Given the description of an element on the screen output the (x, y) to click on. 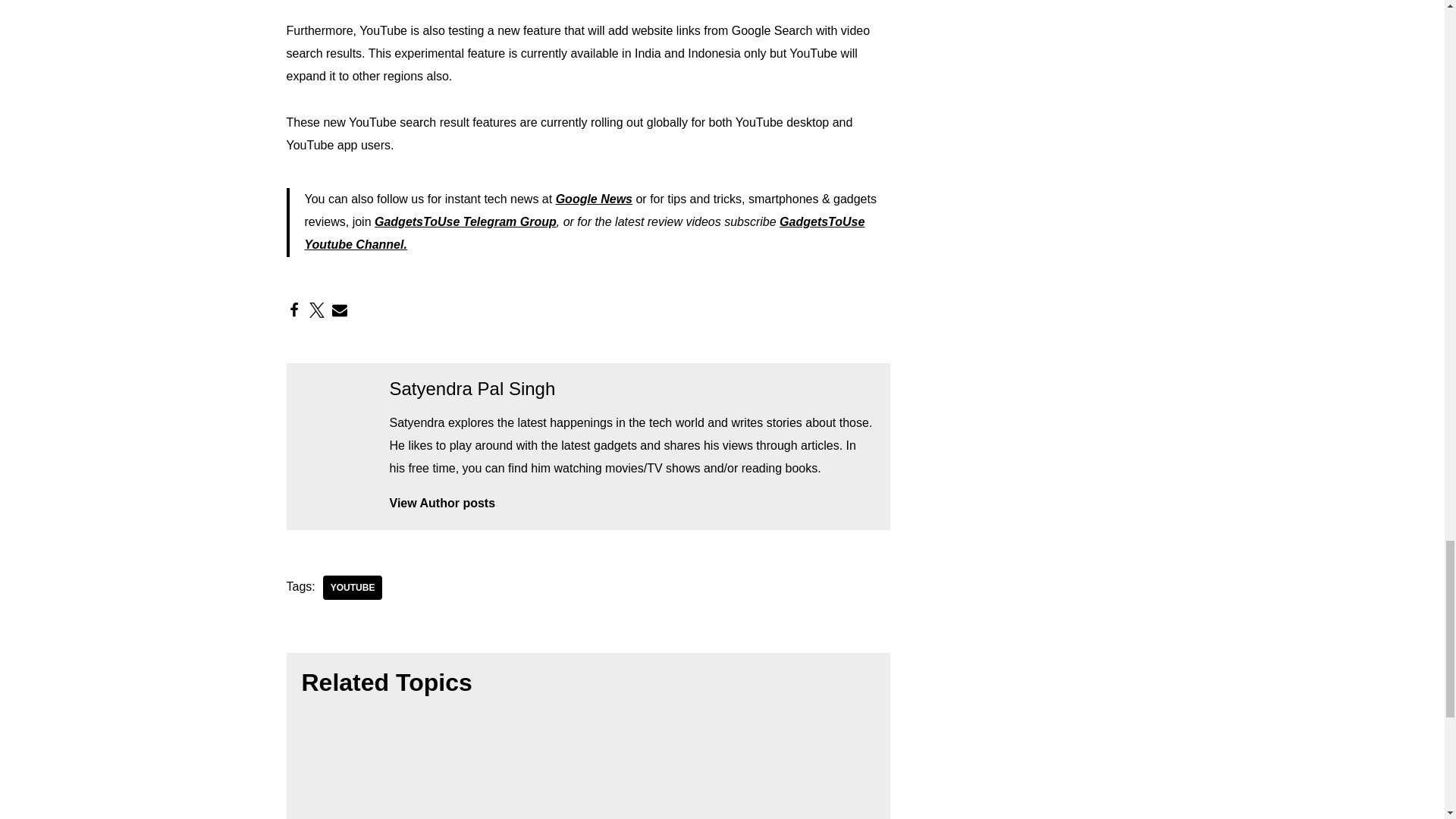
View Author posts (632, 503)
YOUTUBE (352, 587)
Google News (593, 198)
YouTube (352, 587)
GadgetsToUse Youtube Channel. (584, 232)
X (316, 309)
Facebook (293, 309)
GadgetsToUse Telegram Group (465, 221)
Email (339, 309)
